Given the description of an element on the screen output the (x, y) to click on. 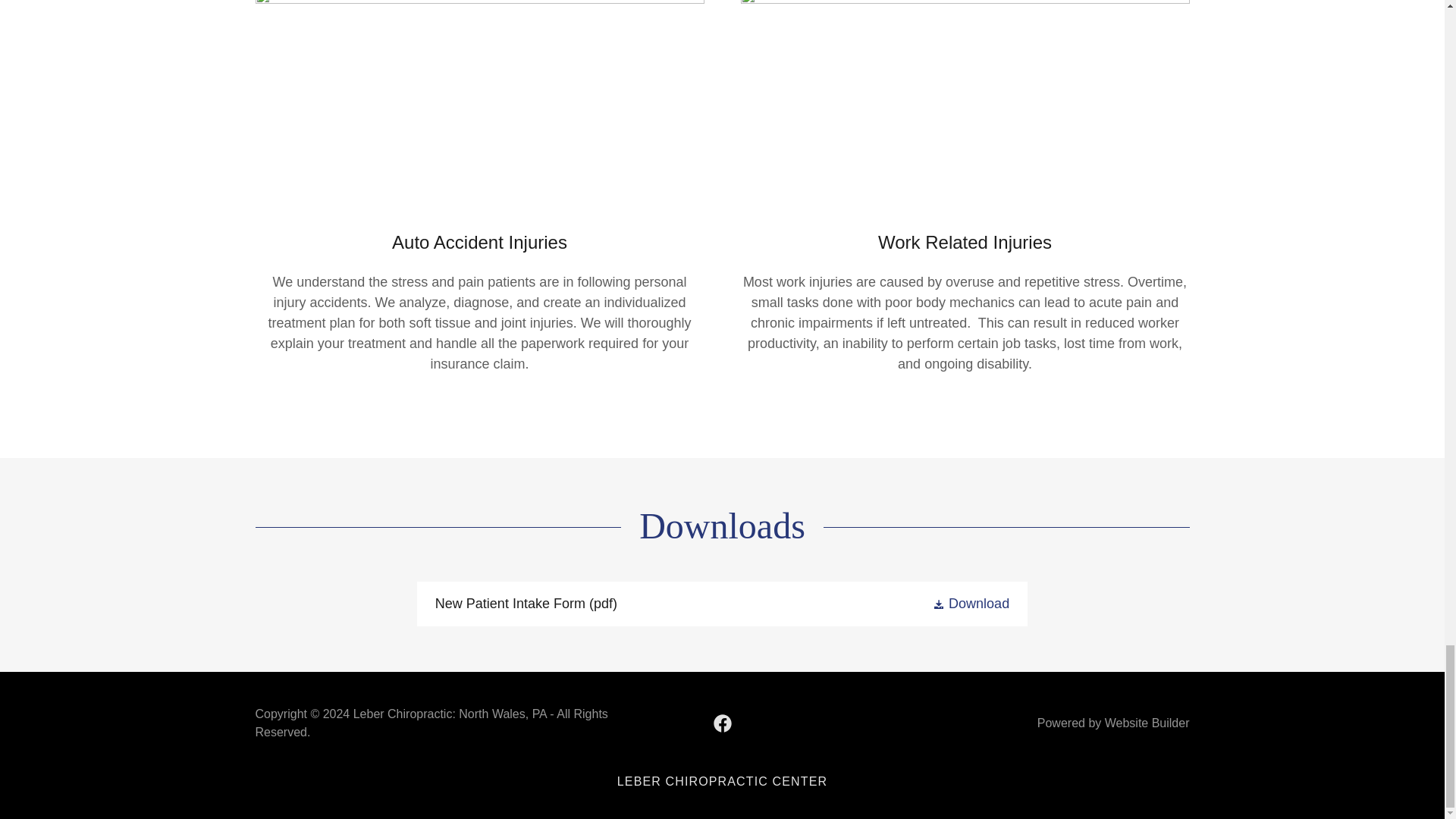
LEBER CHIROPRACTIC CENTER (721, 781)
